Given the description of an element on the screen output the (x, y) to click on. 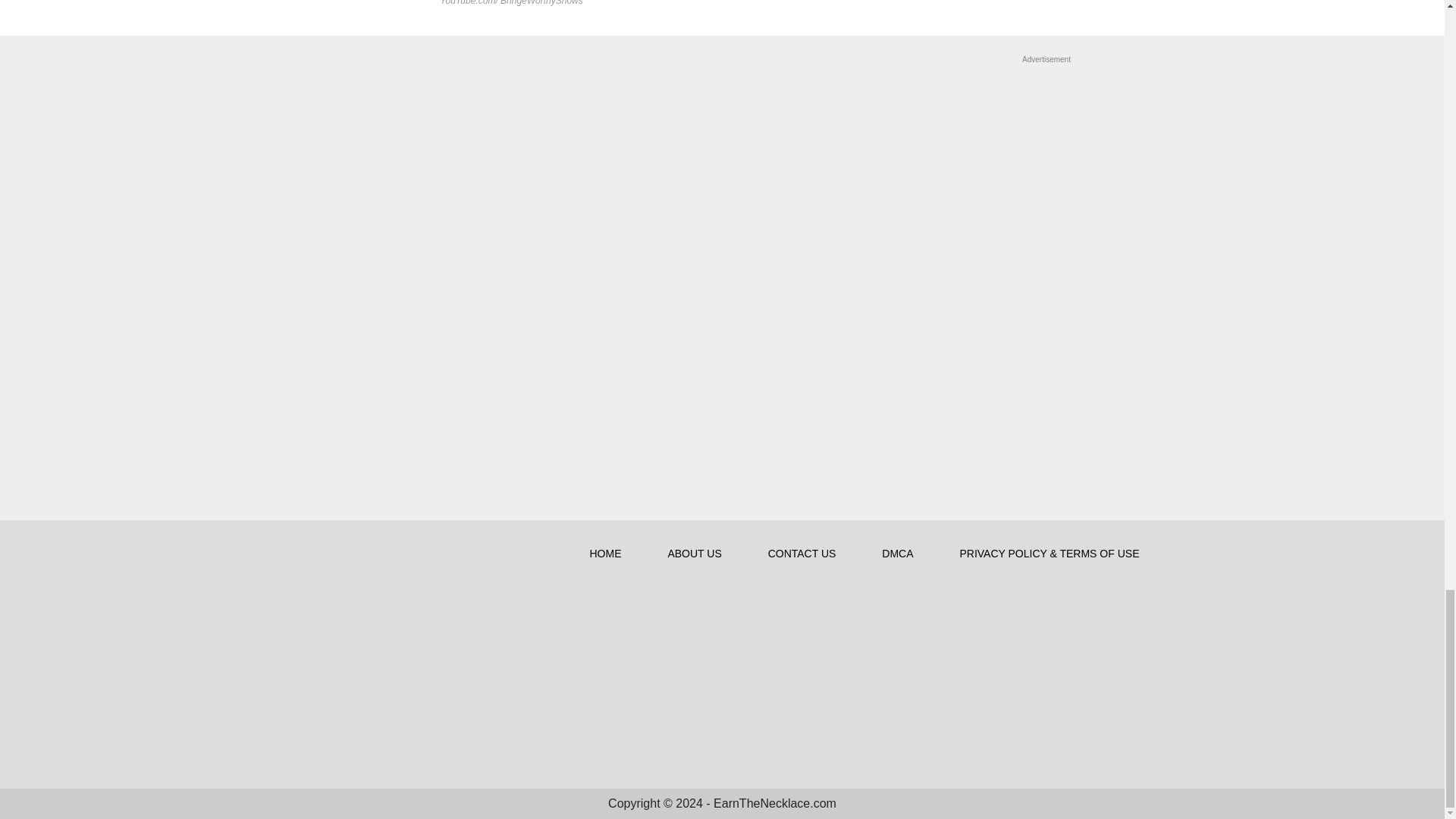
HOME (606, 553)
CONTACT US (804, 553)
DMCA (899, 553)
ABOUT US (695, 553)
